Given the description of an element on the screen output the (x, y) to click on. 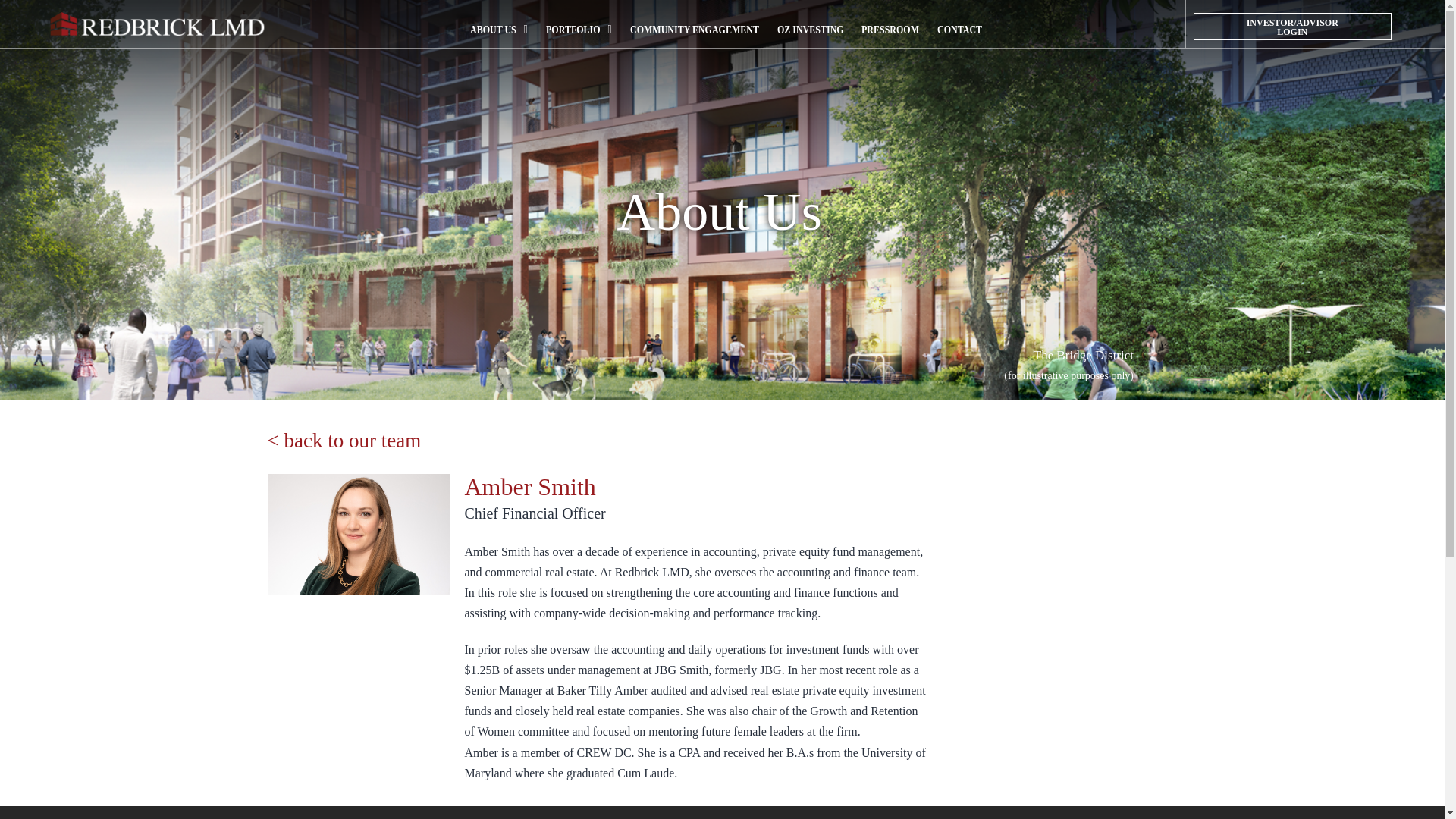
PORTFOLIO (579, 28)
ABOUT US (499, 28)
COMMUNITY ENGAGEMENT (694, 28)
OZ INVESTING (810, 28)
CONTACT (959, 28)
PRESSROOM (889, 28)
